Given the description of an element on the screen output the (x, y) to click on. 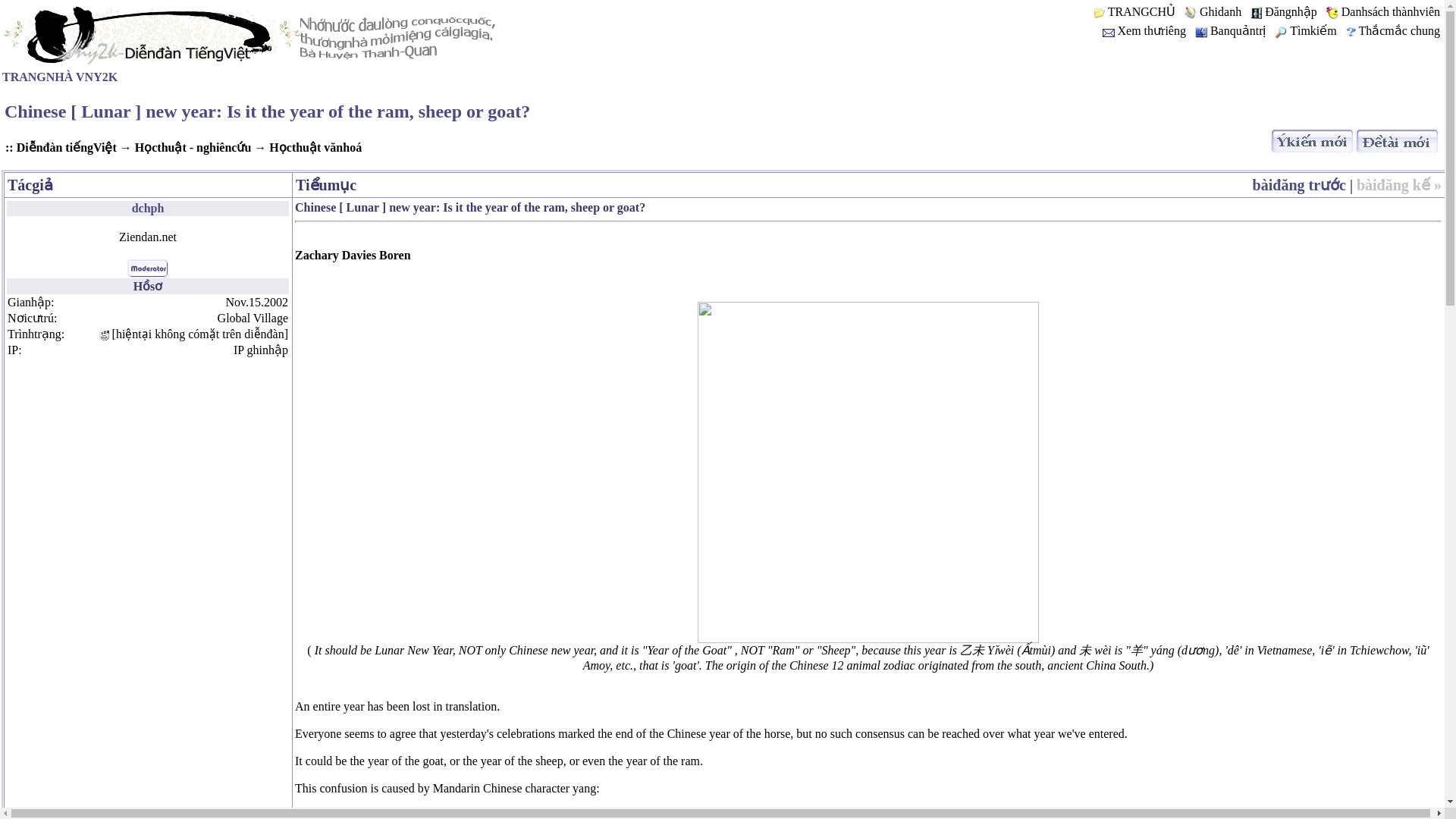
Ghidanh (1220, 11)
dchph (148, 207)
